Given the description of an element on the screen output the (x, y) to click on. 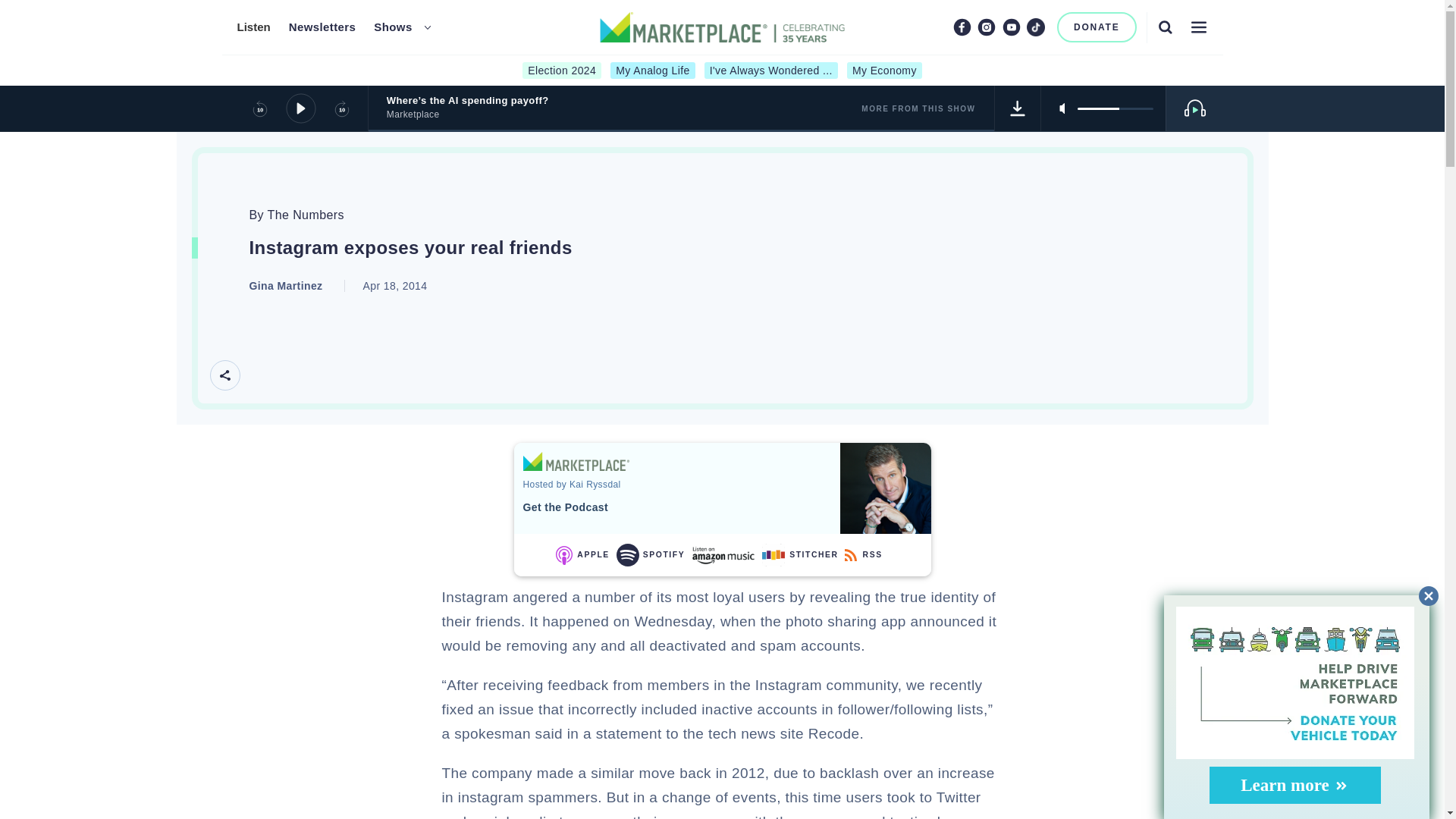
Shows (393, 26)
Listen (252, 26)
volume (1115, 108)
Marketplace (575, 461)
Menu (1198, 27)
Youtube (1011, 27)
Download Track (1017, 108)
5 (1115, 108)
Newsletters (322, 27)
Instagram (985, 27)
DONATE (1097, 27)
Facebook (962, 27)
TikTok (1035, 27)
Search (1164, 27)
